Given the description of an element on the screen output the (x, y) to click on. 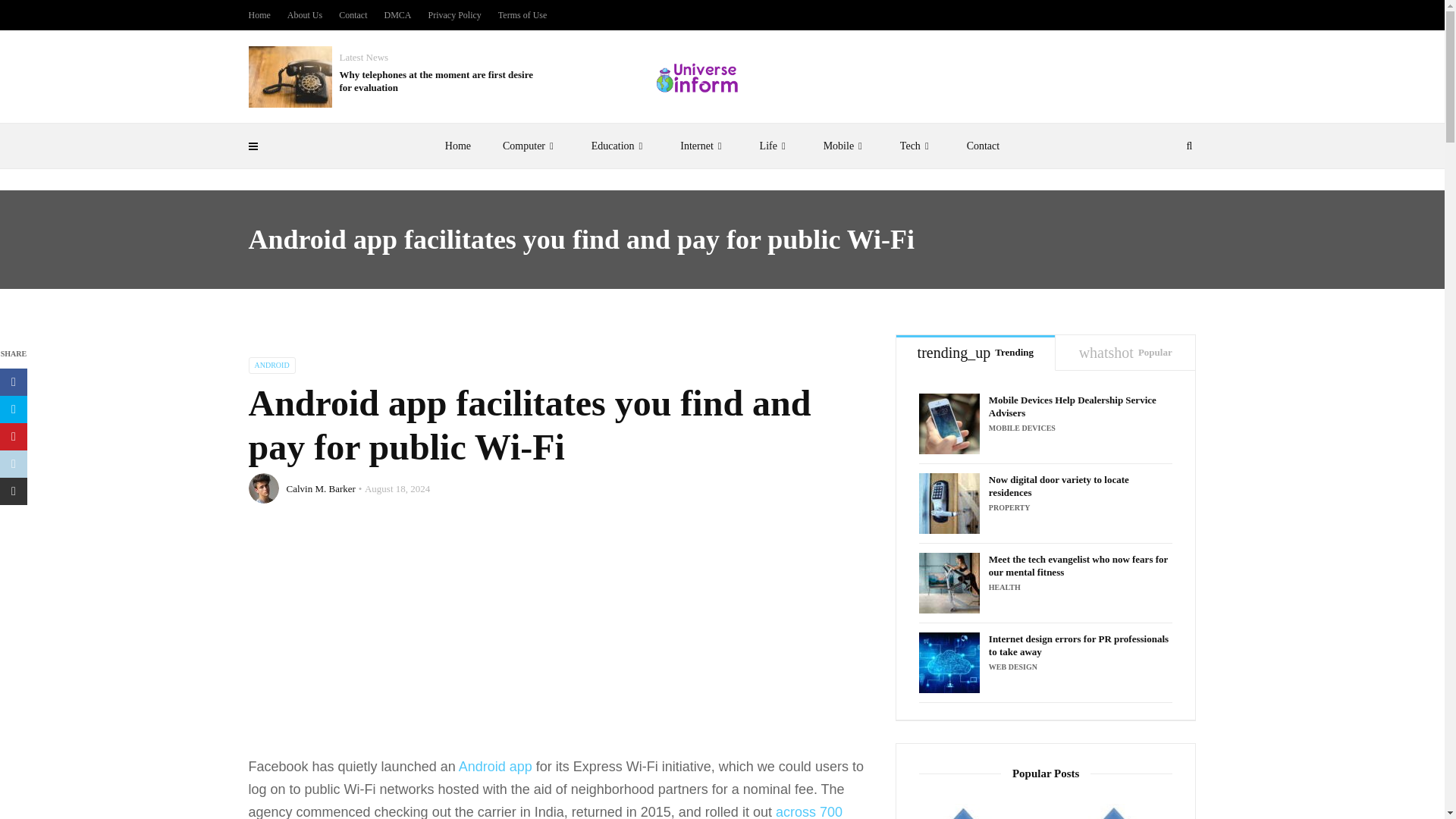
Education (620, 145)
Computer (530, 145)
Internet (702, 145)
Internet design errors for PR professionals to take away 6 (948, 662)
Life (776, 145)
Advertisement (560, 641)
Now digital door variety to locate residences 4 (948, 503)
Home (457, 145)
